Given the description of an element on the screen output the (x, y) to click on. 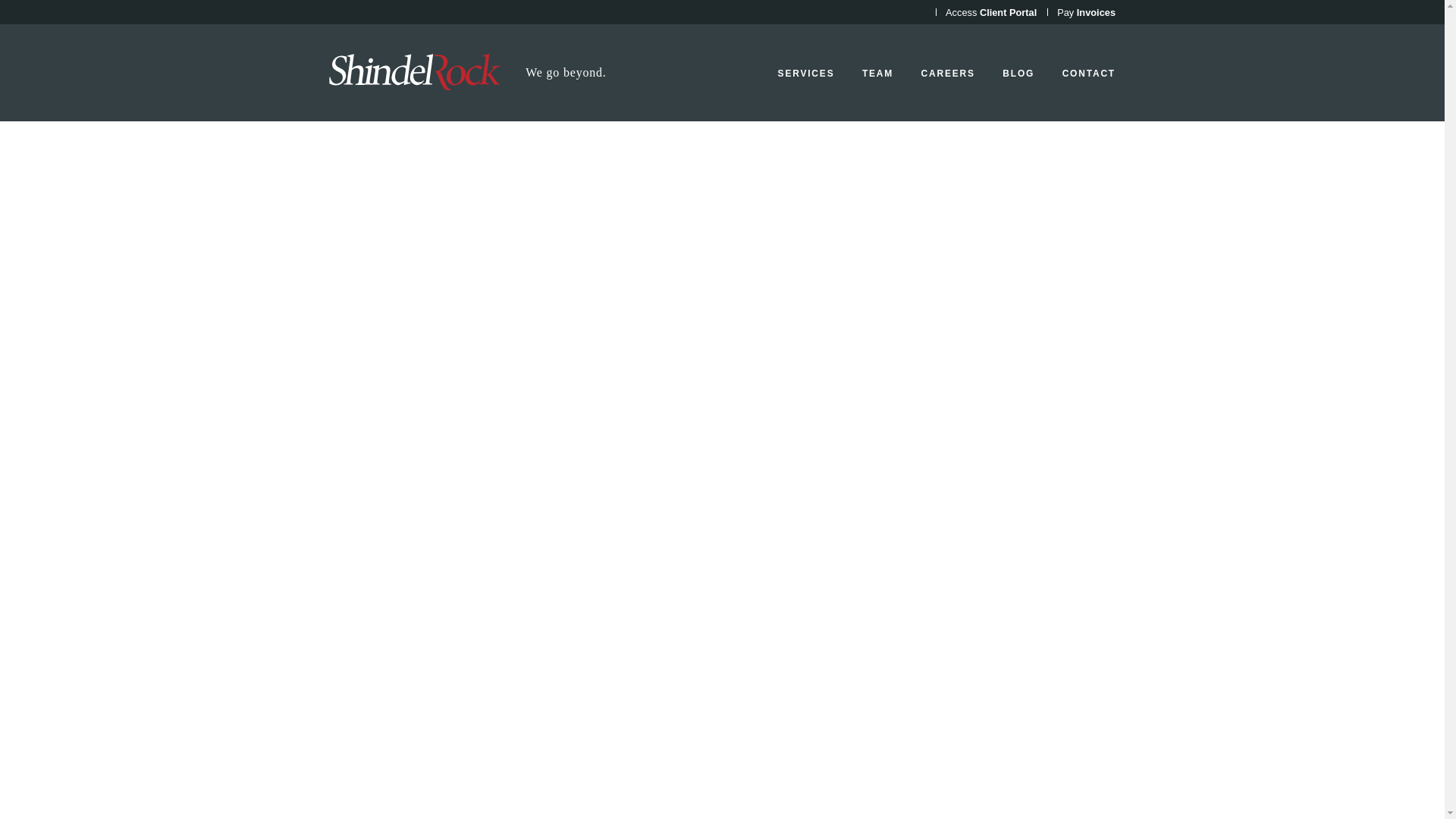
CONTACT (1088, 72)
TEAM (877, 72)
BLOG (1018, 72)
Access Client Portal (990, 12)
Pay Invoices (1086, 12)
CAREERS (948, 72)
SERVICES (805, 72)
